Given the description of an element on the screen output the (x, y) to click on. 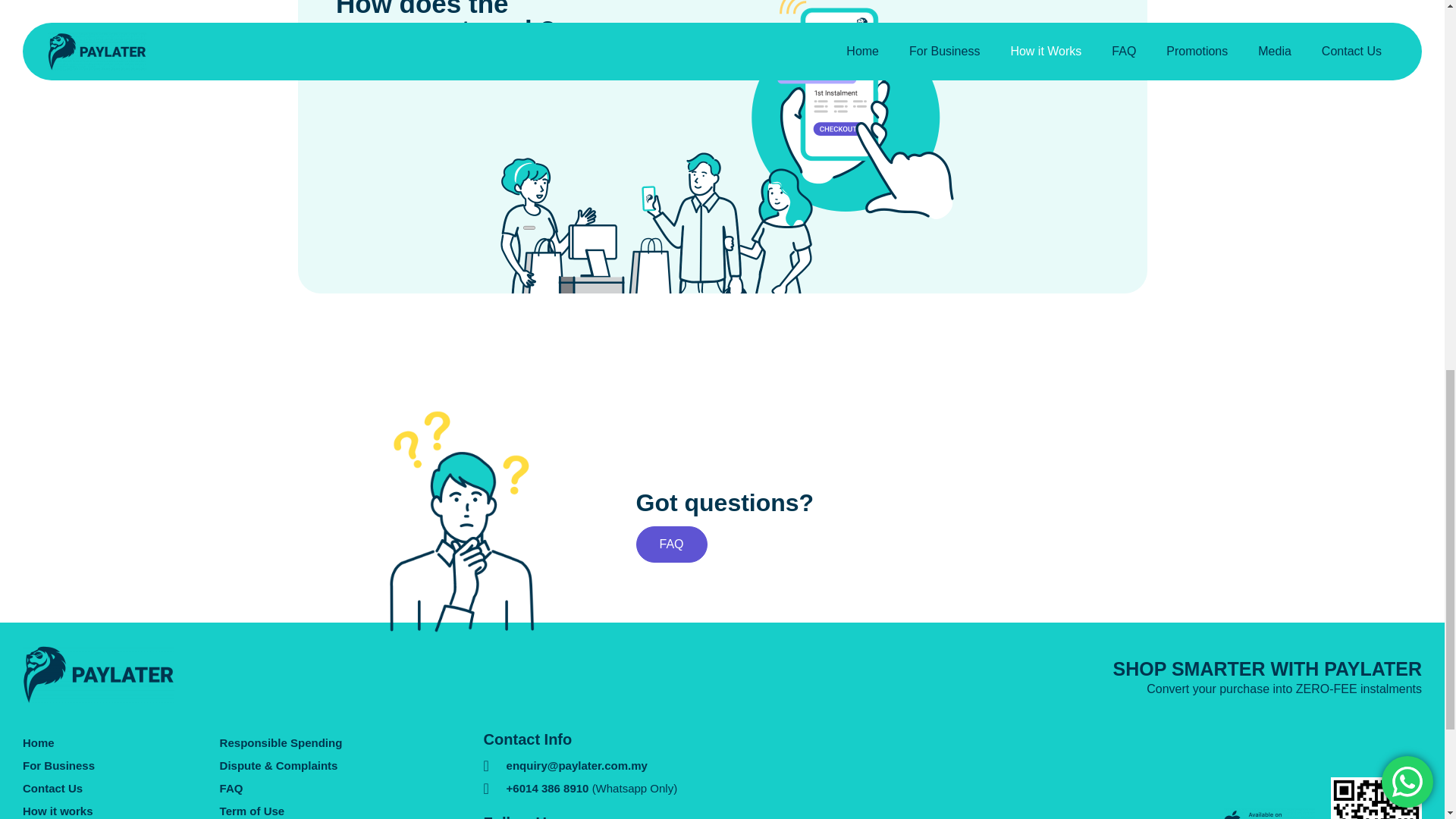
Home (121, 743)
FAQ (670, 544)
Contact Us (121, 788)
How it works (121, 809)
For Business (121, 765)
